Given the description of an element on the screen output the (x, y) to click on. 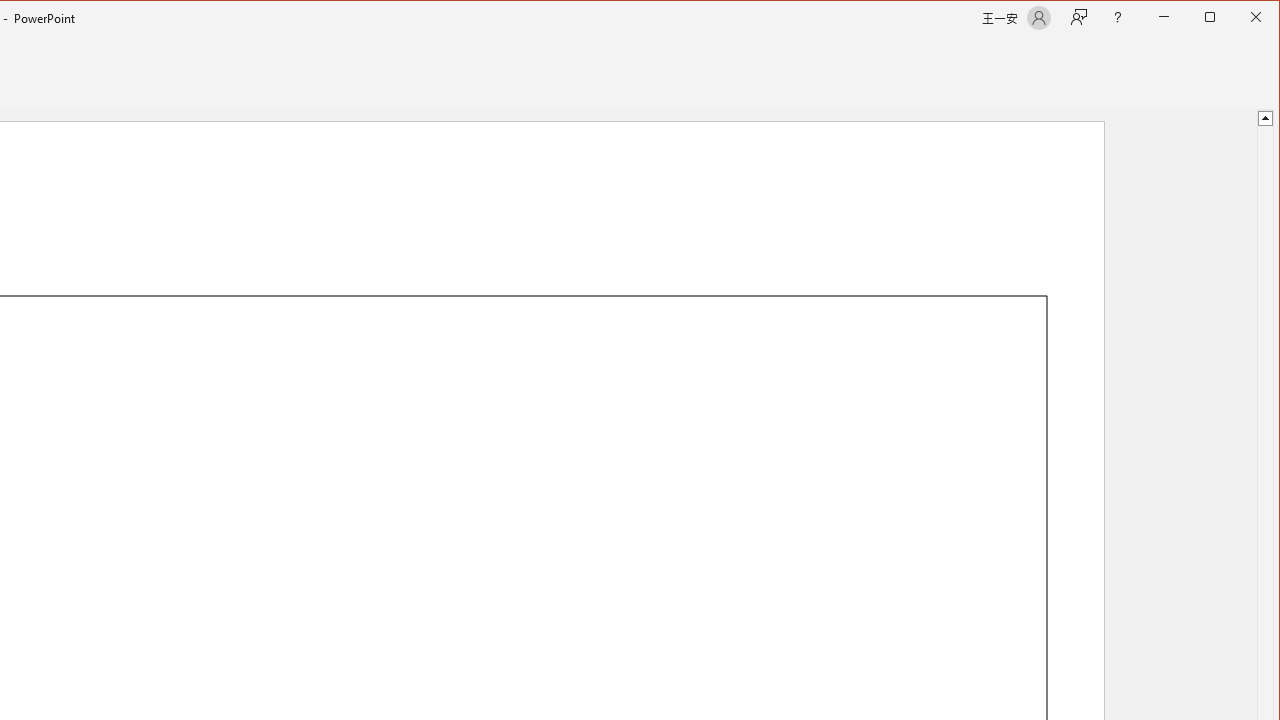
Maximize (1238, 18)
